Given the description of an element on the screen output the (x, y) to click on. 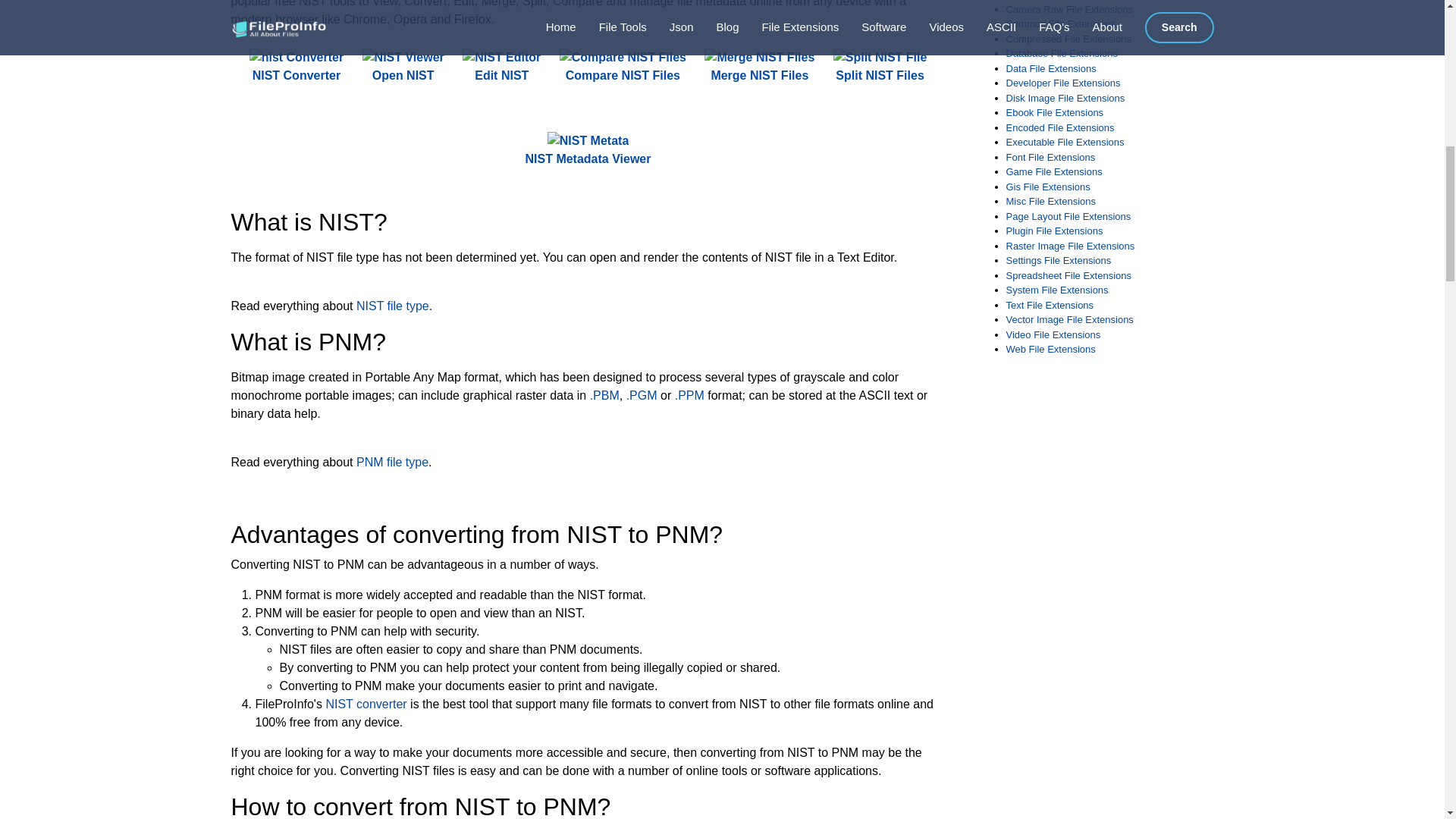
NIST Viewer, open NIST file online and free. (403, 66)
Open NIST (403, 66)
NIST converter (365, 703)
.PGM (642, 395)
PNM file type (392, 461)
NIST Converter (295, 66)
Compare NIST Files (622, 66)
Split NIST Files (879, 66)
NIST file type (392, 305)
Merge NIST Files (758, 66)
